Given the description of an element on the screen output the (x, y) to click on. 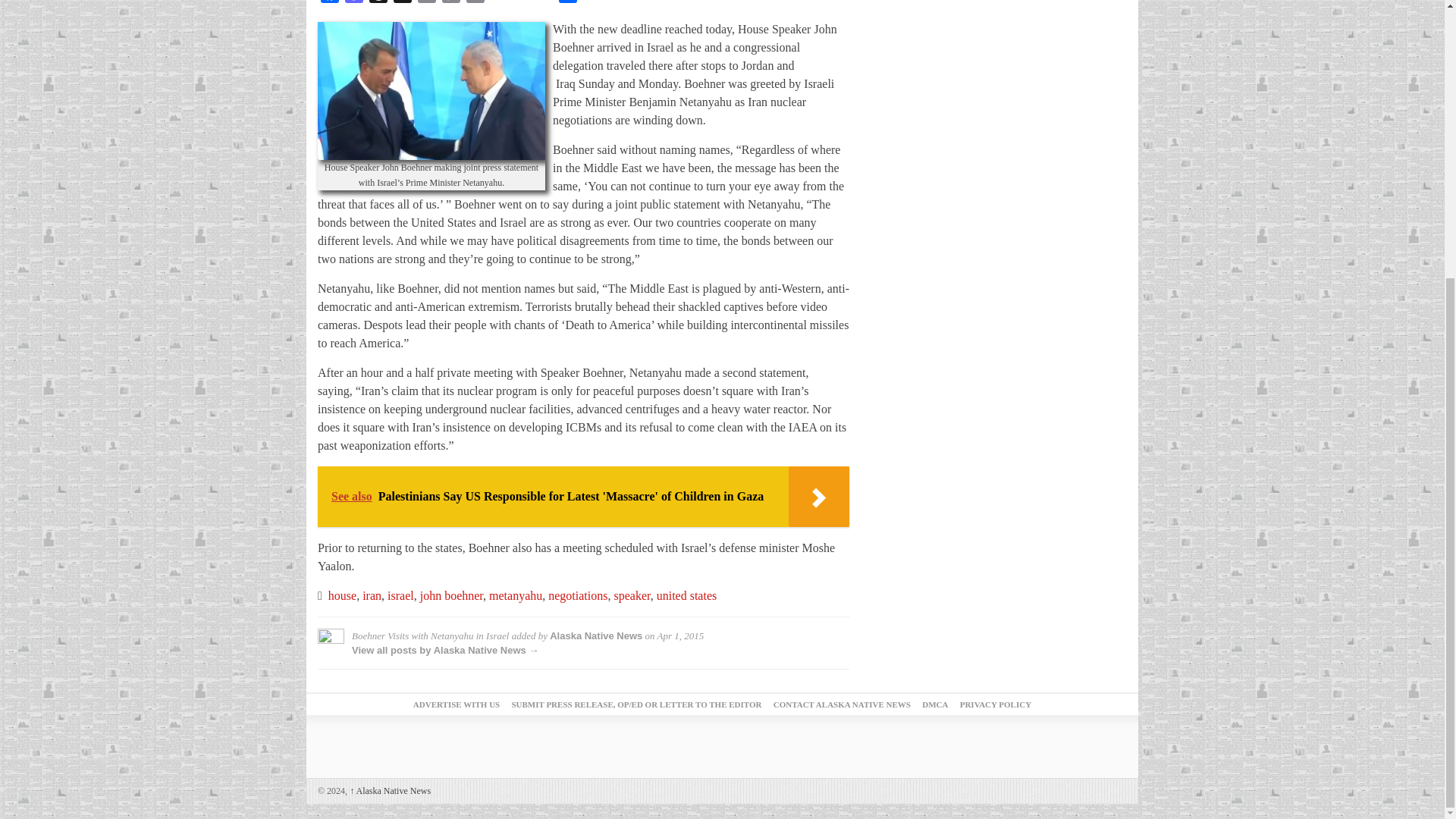
Threads (378, 4)
X (402, 4)
Copy Link (451, 4)
Facebook (329, 4)
Email (426, 4)
Mastodon (354, 4)
Mastodon (354, 4)
Print (475, 4)
Facebook (329, 4)
